Given the description of an element on the screen output the (x, y) to click on. 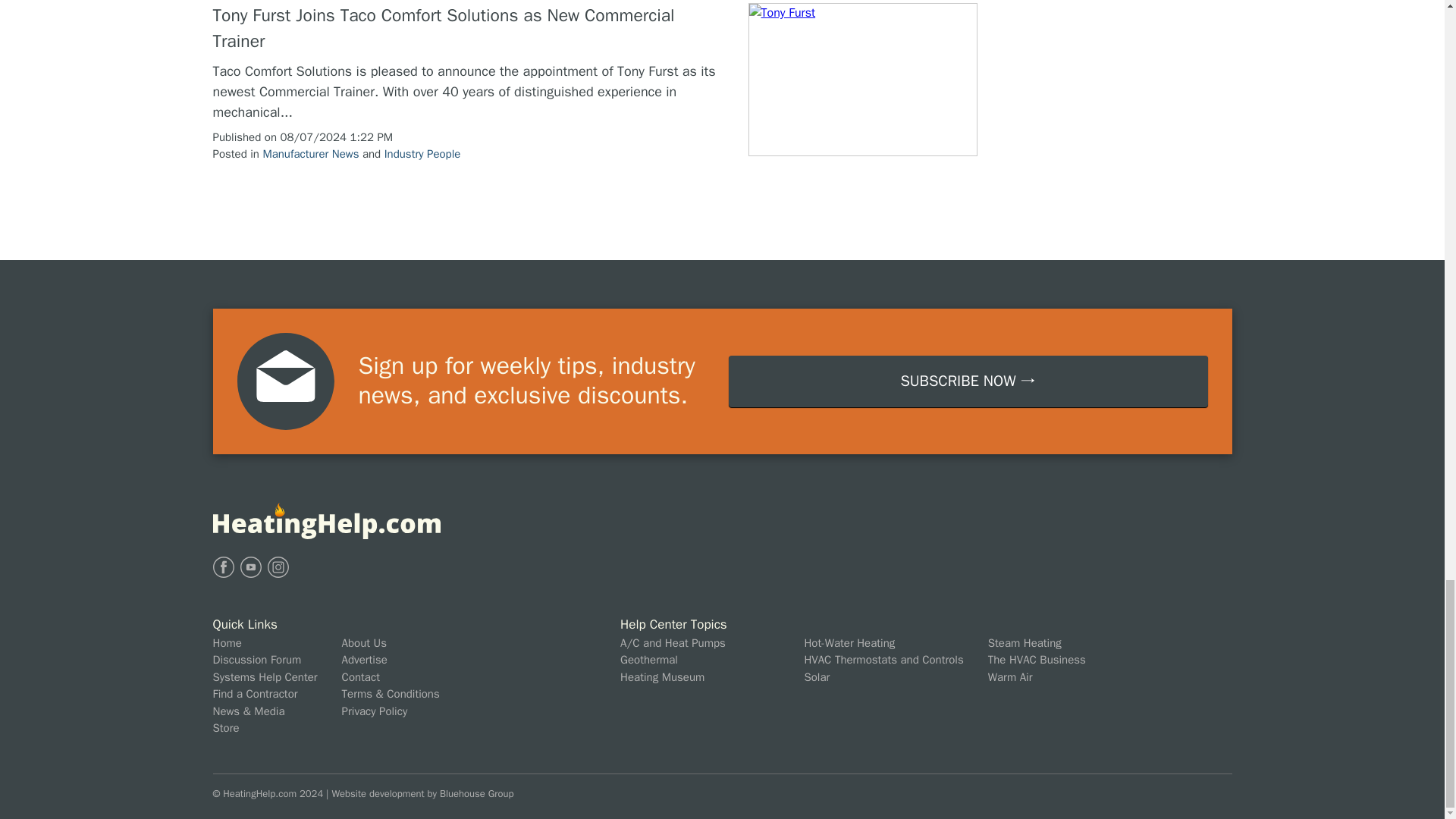
Industry People (422, 153)
Manufacturer News (310, 153)
